Given the description of an element on the screen output the (x, y) to click on. 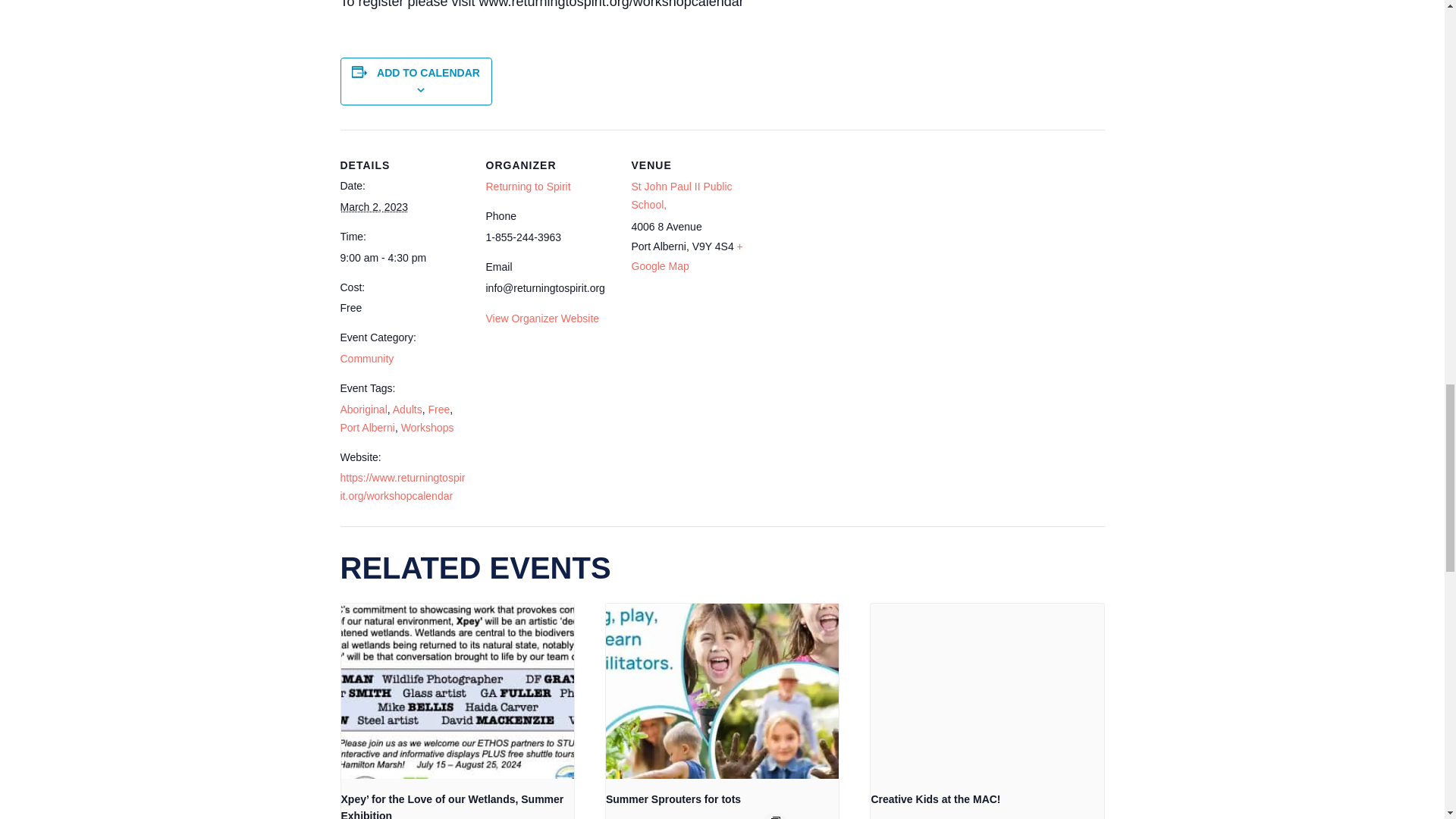
Community (366, 358)
Aboriginal (363, 409)
2023-03-02 (373, 206)
Click to view a Google Map (686, 255)
Returning to Spirit (527, 186)
ADD TO CALENDAR (428, 71)
2023-03-02 (403, 257)
